Given the description of an element on the screen output the (x, y) to click on. 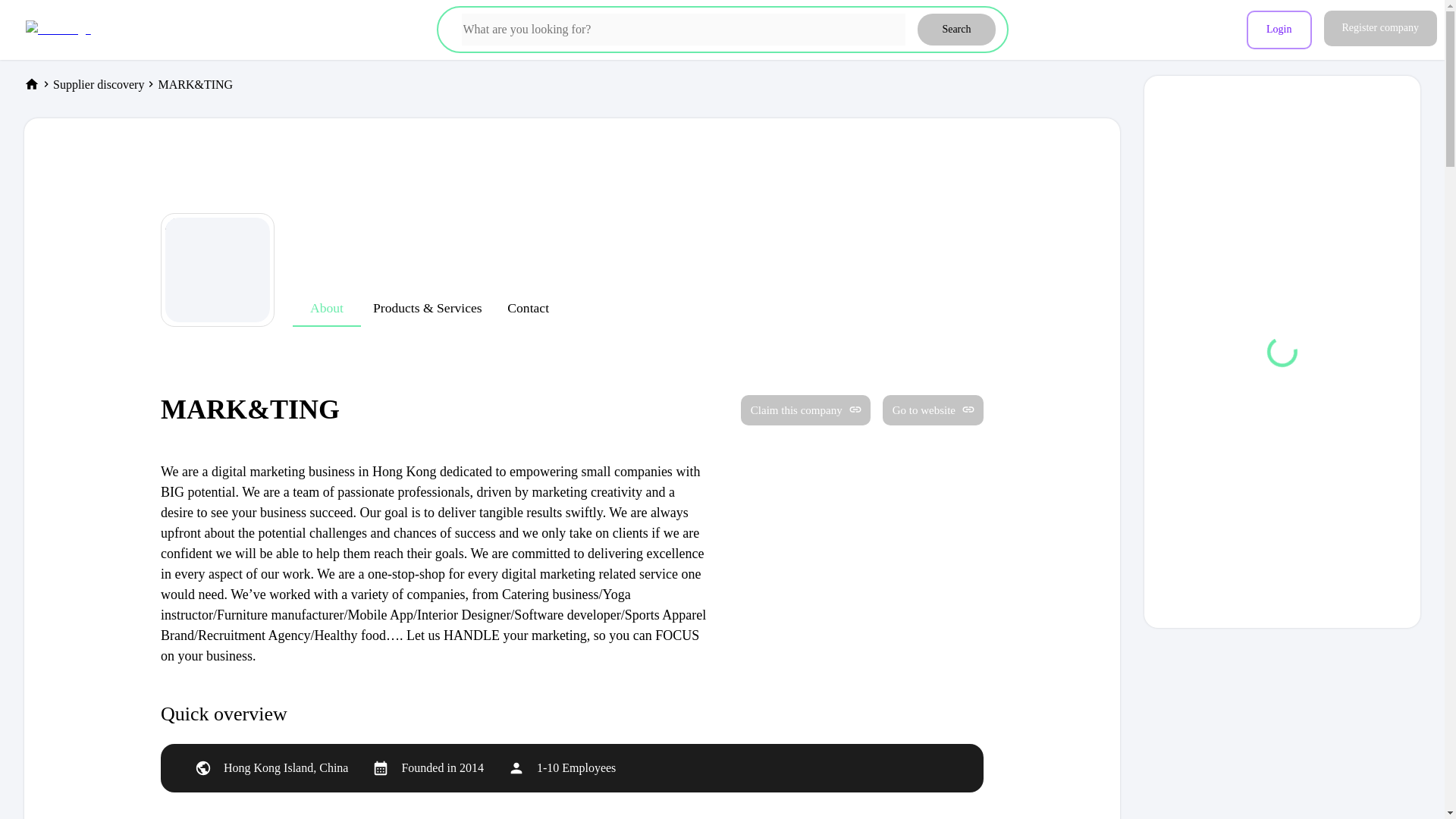
Login (1278, 29)
Register company (1380, 27)
Supplier discovery (98, 83)
Claim this company (805, 409)
Go to website (927, 409)
Register company (1380, 29)
About (326, 308)
Search (955, 29)
Go to website (933, 409)
Contact (528, 308)
